Given the description of an element on the screen output the (x, y) to click on. 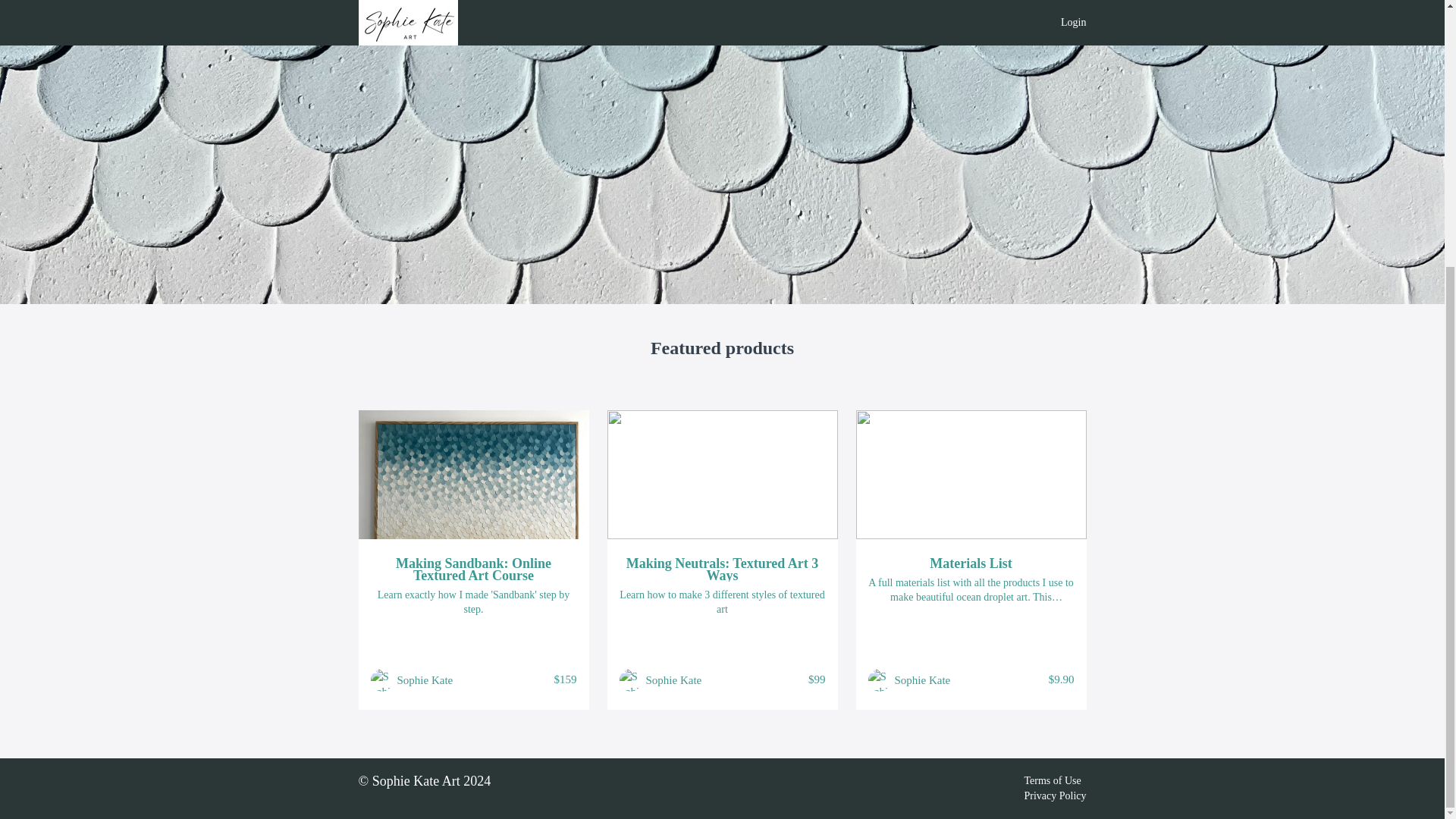
Learn exactly how I made 'Sandbank' step by step. (472, 602)
Making Neutrals: Textured Art 3 Ways  (721, 569)
Terms of Use (1051, 780)
Sophie Kate (424, 680)
Making Sandbank: Online Textured Art Course (472, 569)
Privacy Policy (1054, 795)
Materials List (970, 563)
Sophie Kate (922, 680)
Learn how to make 3 different styles of textured art  (721, 602)
Sophie Kate (673, 680)
